Given the description of an element on the screen output the (x, y) to click on. 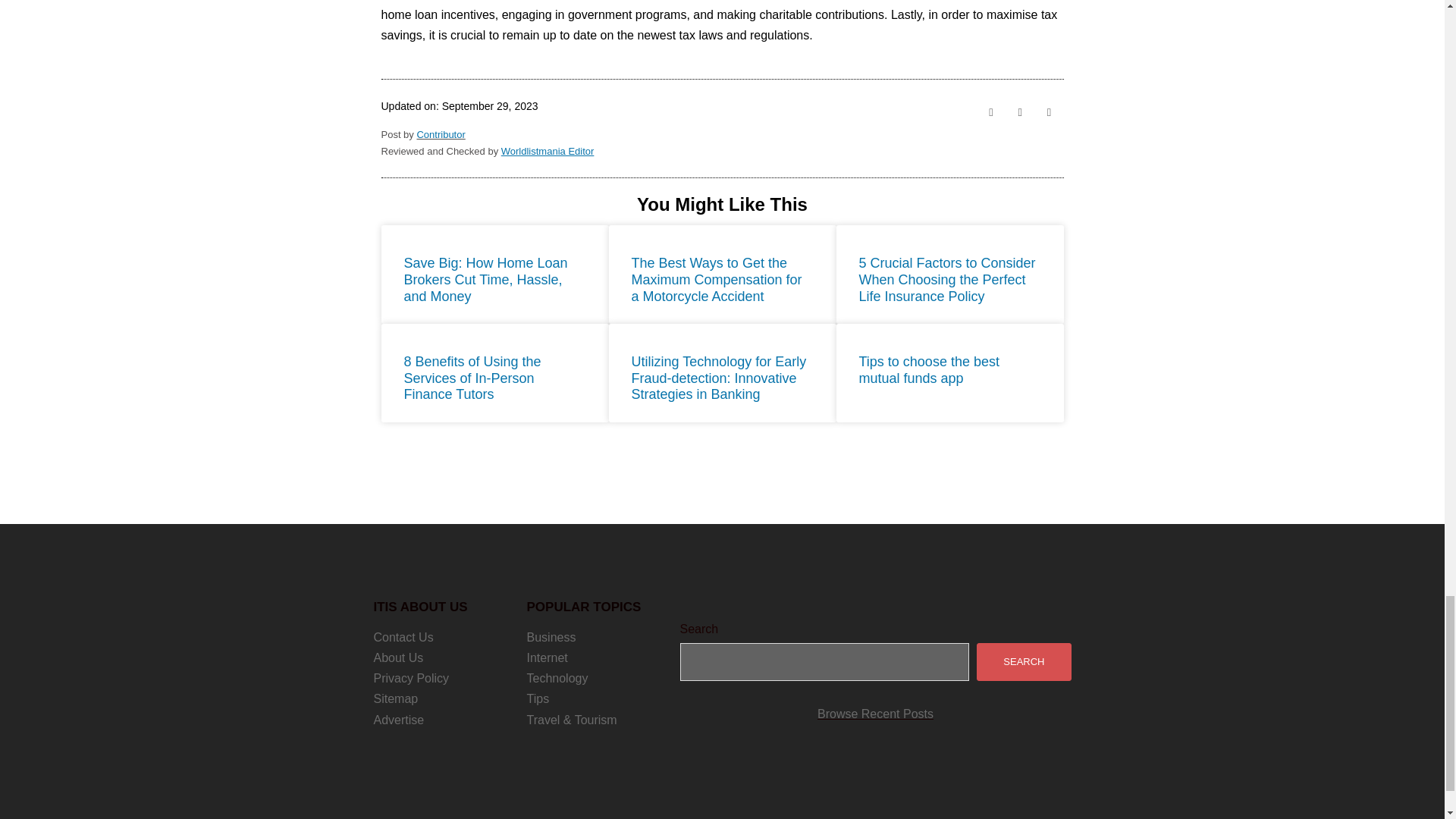
Worldlistmania Editor (547, 151)
Save Big: How Home Loan Brokers Cut Time, Hassle, and Money (485, 279)
Contributor (440, 134)
8 Benefits of Using the Services of In-Person Finance Tutors (471, 377)
